Given the description of an element on the screen output the (x, y) to click on. 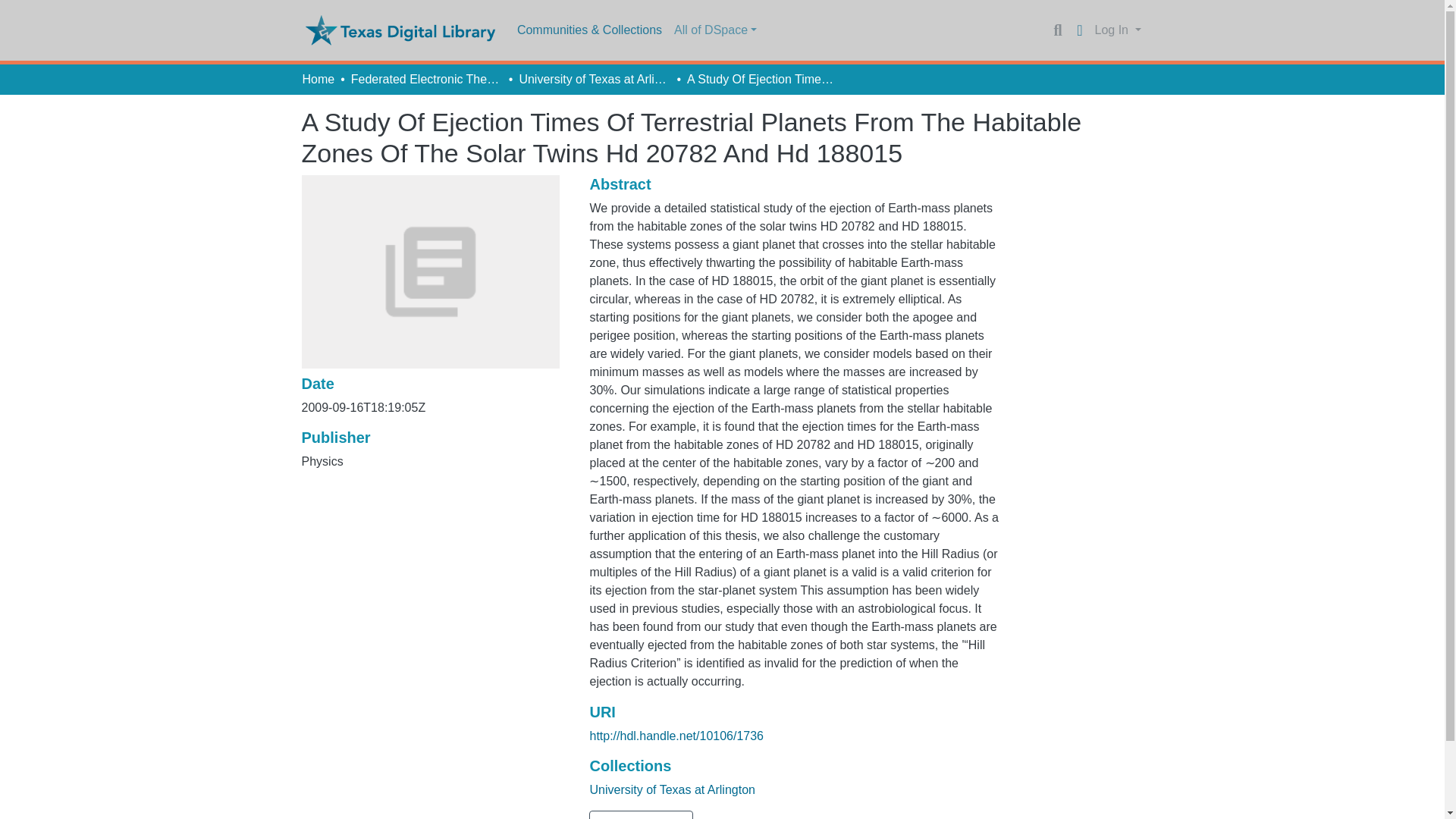
University of Texas at Arlington (593, 79)
Home (317, 79)
All of DSpace (715, 30)
Search (1057, 30)
Full item page (641, 814)
Log In (1117, 30)
University of Texas at Arlington (671, 789)
Federated Electronic Theses and Dissertations (426, 79)
Language switch (1079, 30)
